Given the description of an element on the screen output the (x, y) to click on. 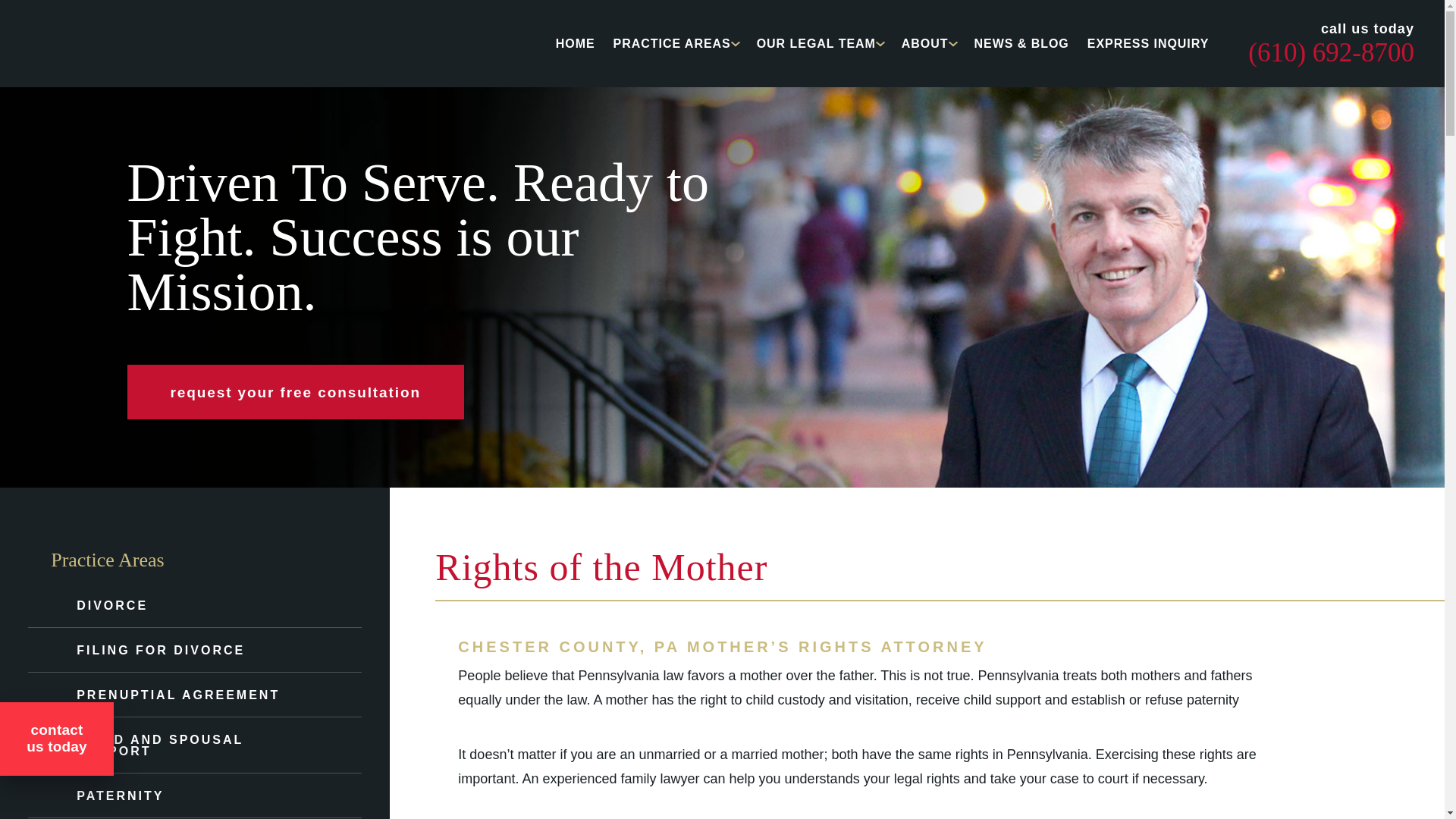
OUR LEGAL TEAM (816, 42)
PRACTICE AREAS (671, 42)
HOME (575, 42)
ABOUT (925, 42)
